Given the description of an element on the screen output the (x, y) to click on. 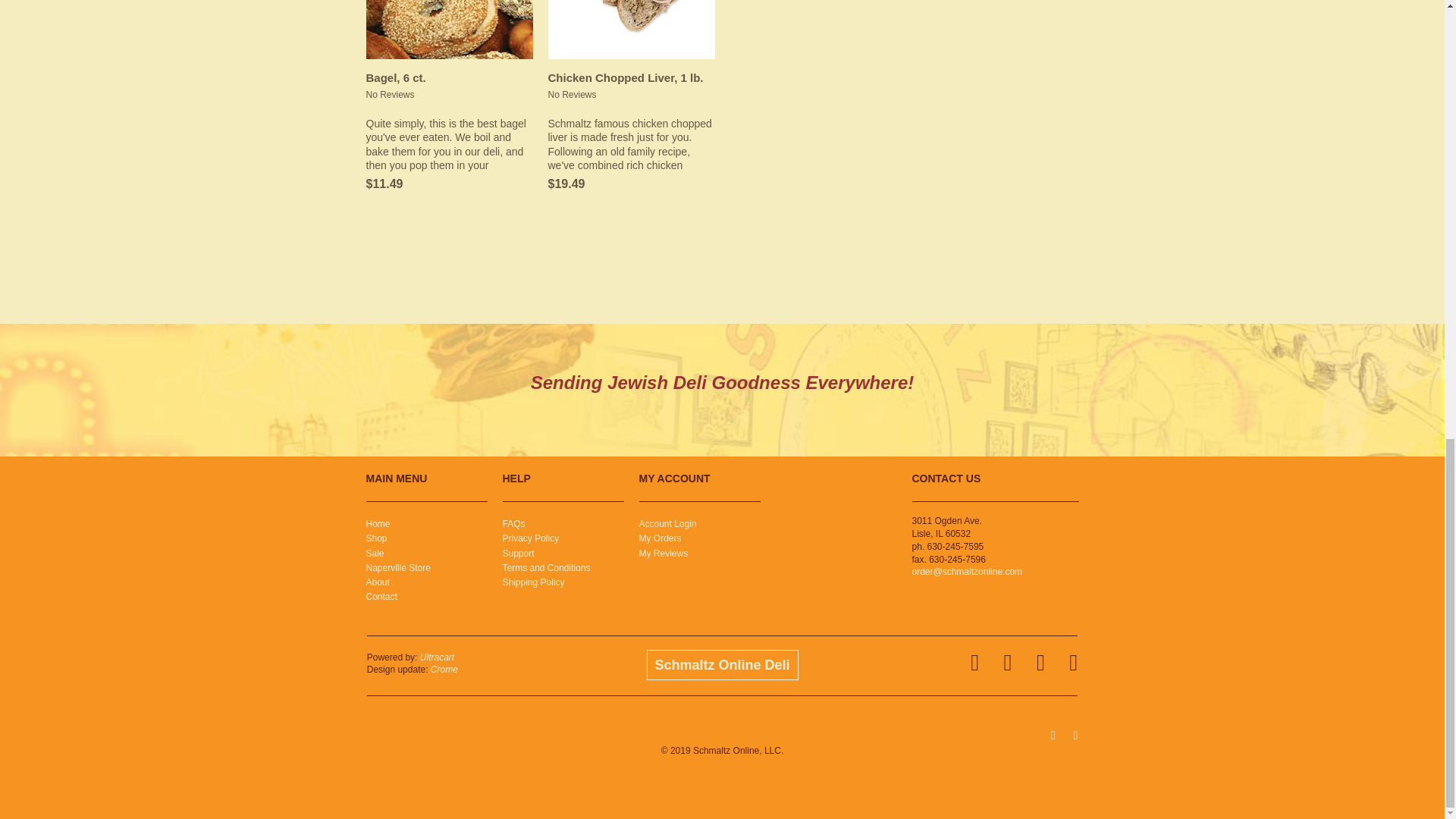
Chicken Chopped Liver, 1 lb. (630, 77)
Follow us on Twitter (1071, 733)
FAQs (513, 523)
Home (377, 523)
Bagel, 6 ct. (448, 77)
Visit Ultracart (437, 656)
Contact (380, 596)
Like us on Facebook (1049, 733)
Sale (374, 552)
Chicken Chopped Liver, 1 lb. (630, 29)
